Given the description of an element on the screen output the (x, y) to click on. 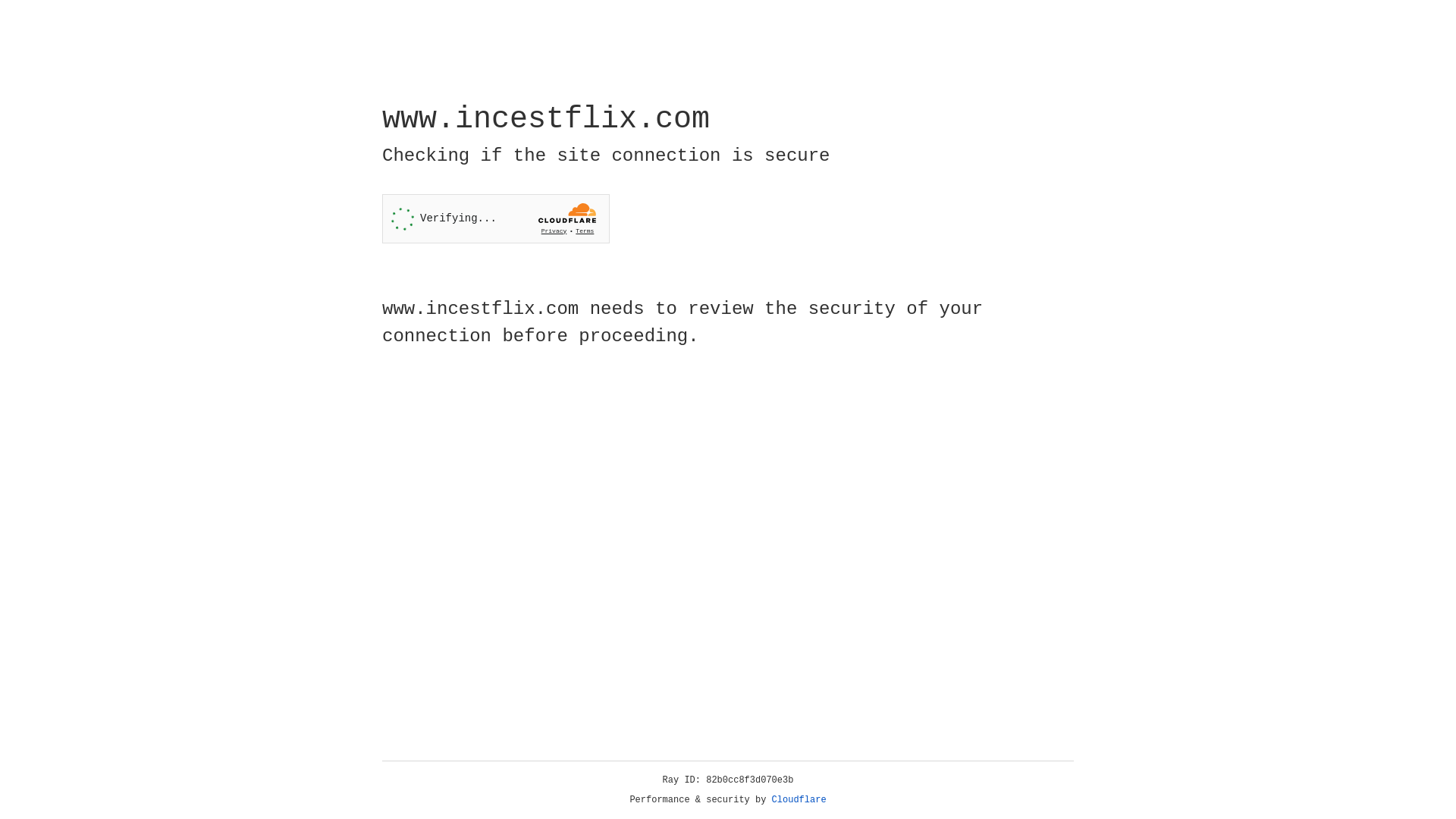
Widget containing a Cloudflare security challenge Element type: hover (495, 218)
Cloudflare Element type: text (798, 799)
